Given the description of an element on the screen output the (x, y) to click on. 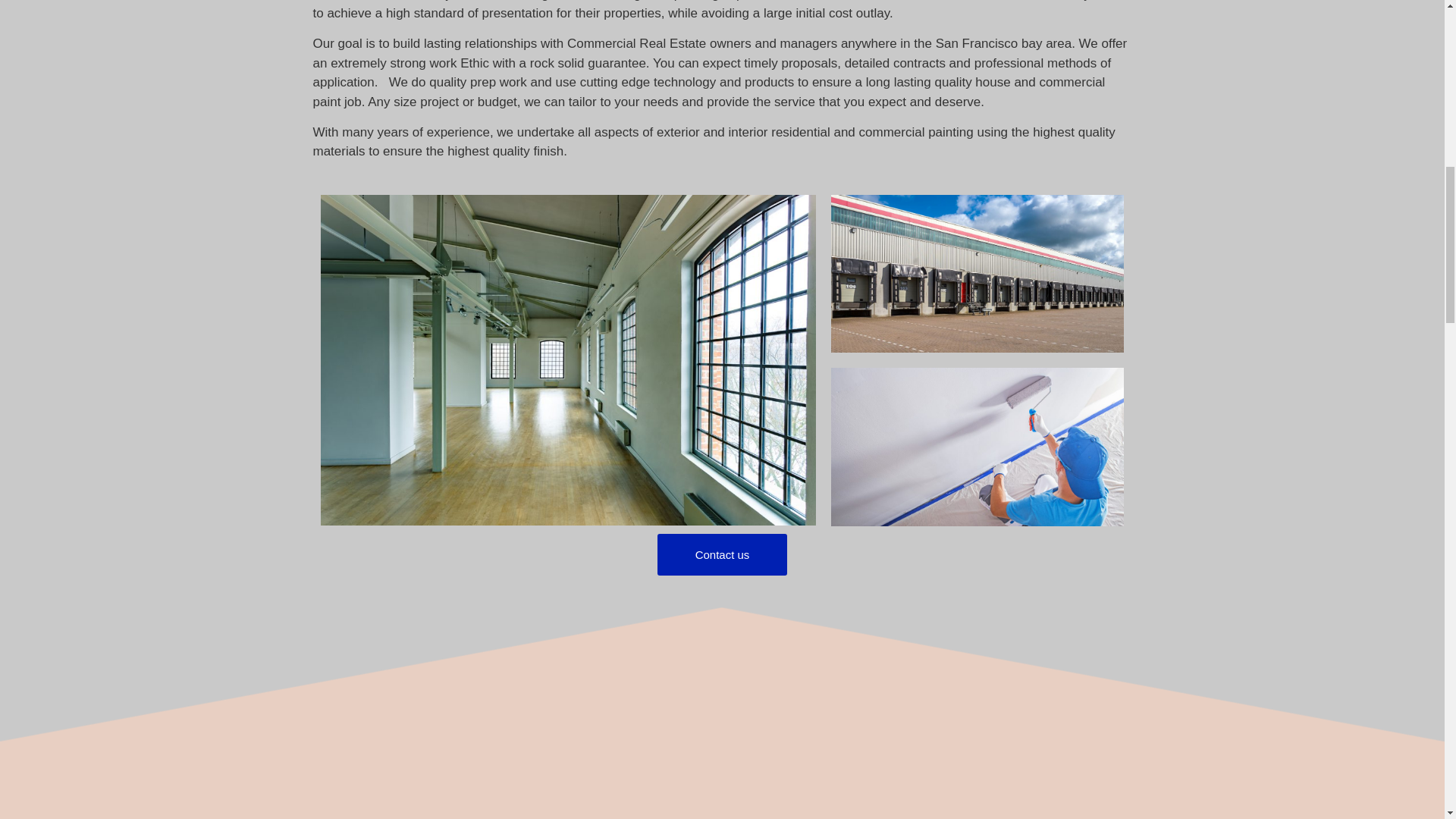
Contact us (722, 554)
